Given the description of an element on the screen output the (x, y) to click on. 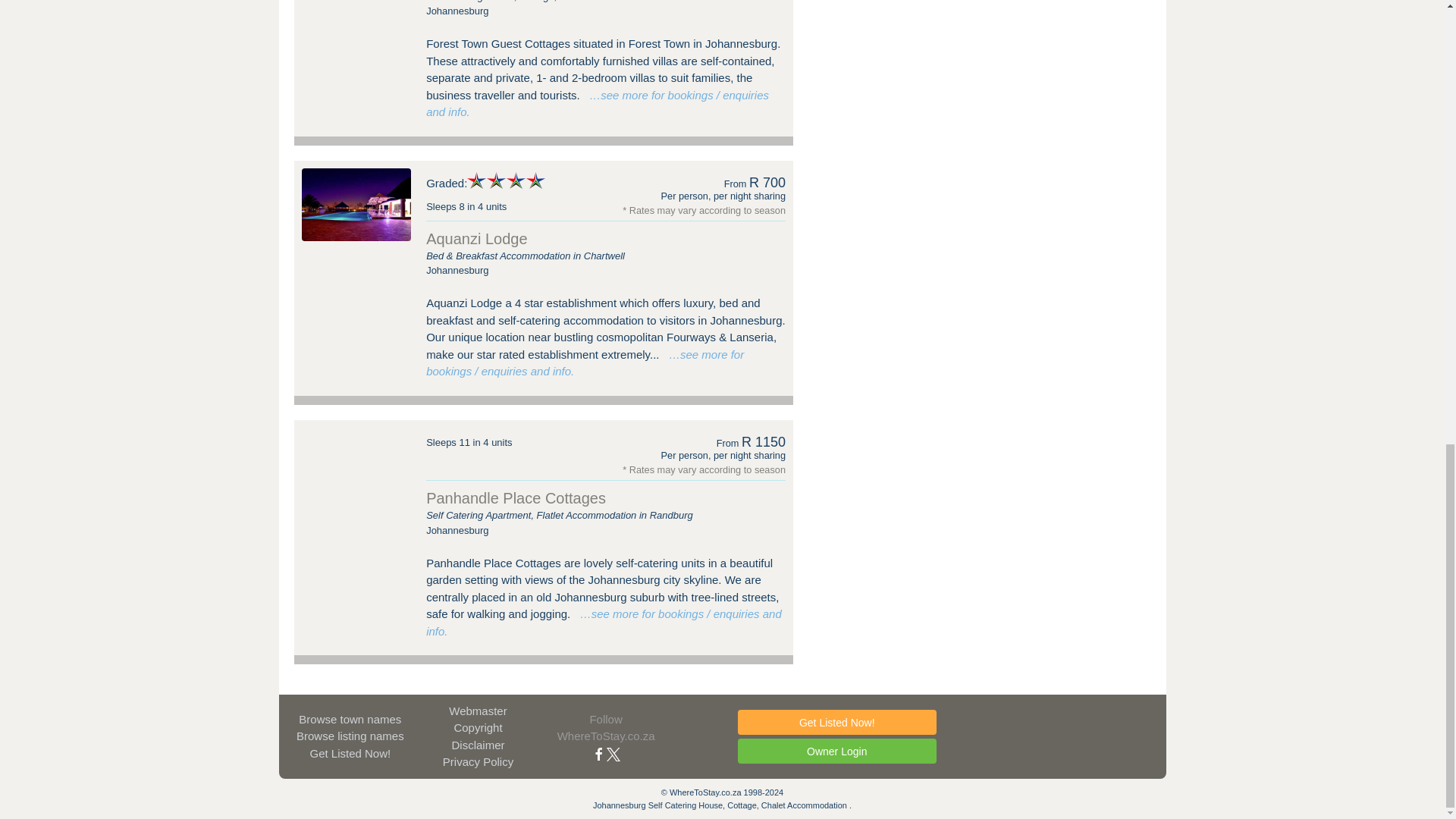
Aquanzi Lodge (356, 204)
Panhandle Place Cottages (356, 463)
Facebook (599, 753)
